Given the description of an element on the screen output the (x, y) to click on. 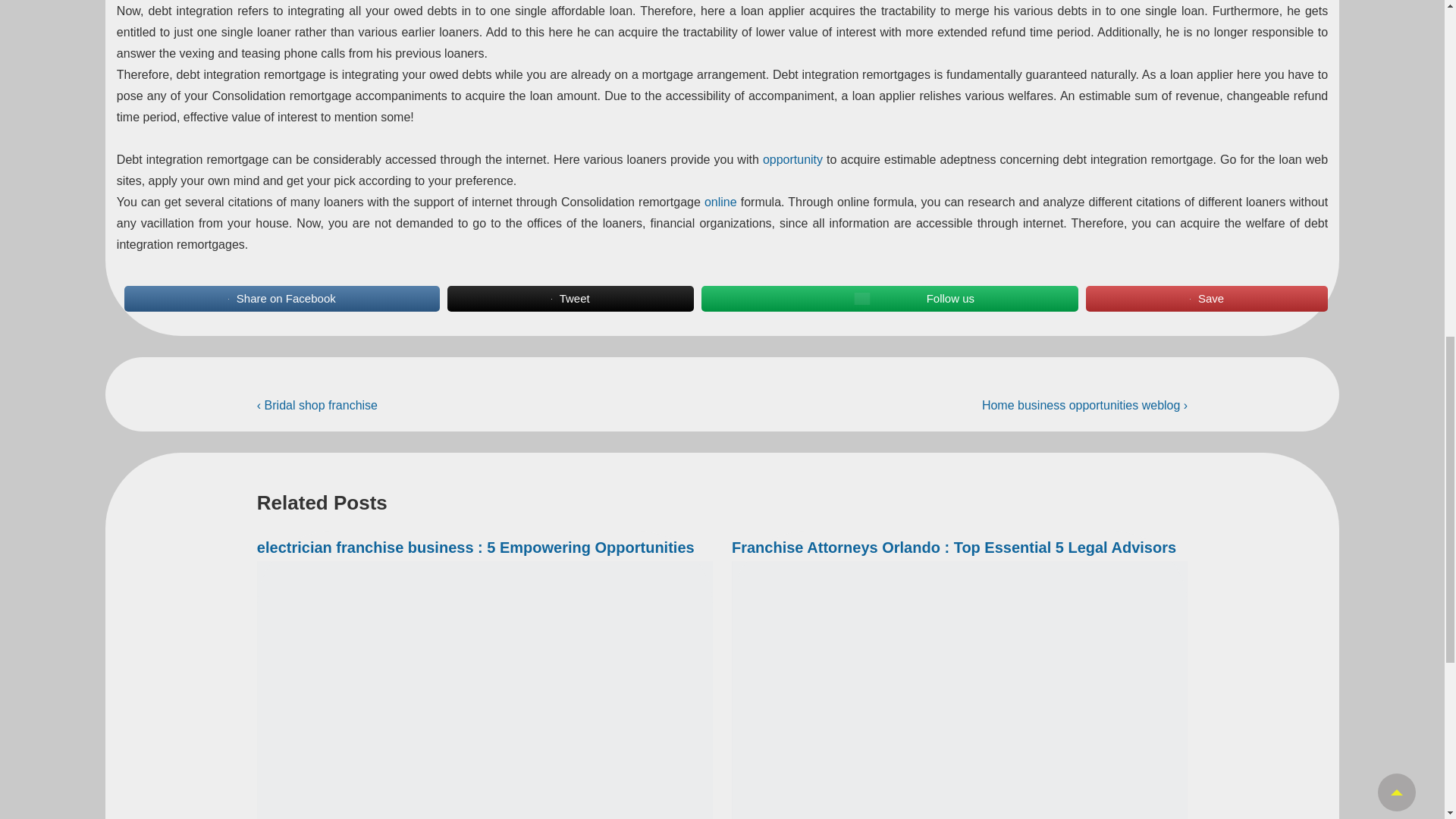
opportunity (792, 159)
Franchise Attorneys Orlando : Top Essential 5 Legal Advisors (954, 547)
Share on Facebook (281, 298)
Follow us (889, 298)
electrician franchise business : 5 Empowering Opportunities (475, 547)
Save (1206, 298)
orlando franchise attorney (960, 690)
online (720, 201)
electric electrician franchise  (485, 690)
Tweet (570, 298)
Consolidation remortgage 3 (861, 298)
